Given the description of an element on the screen output the (x, y) to click on. 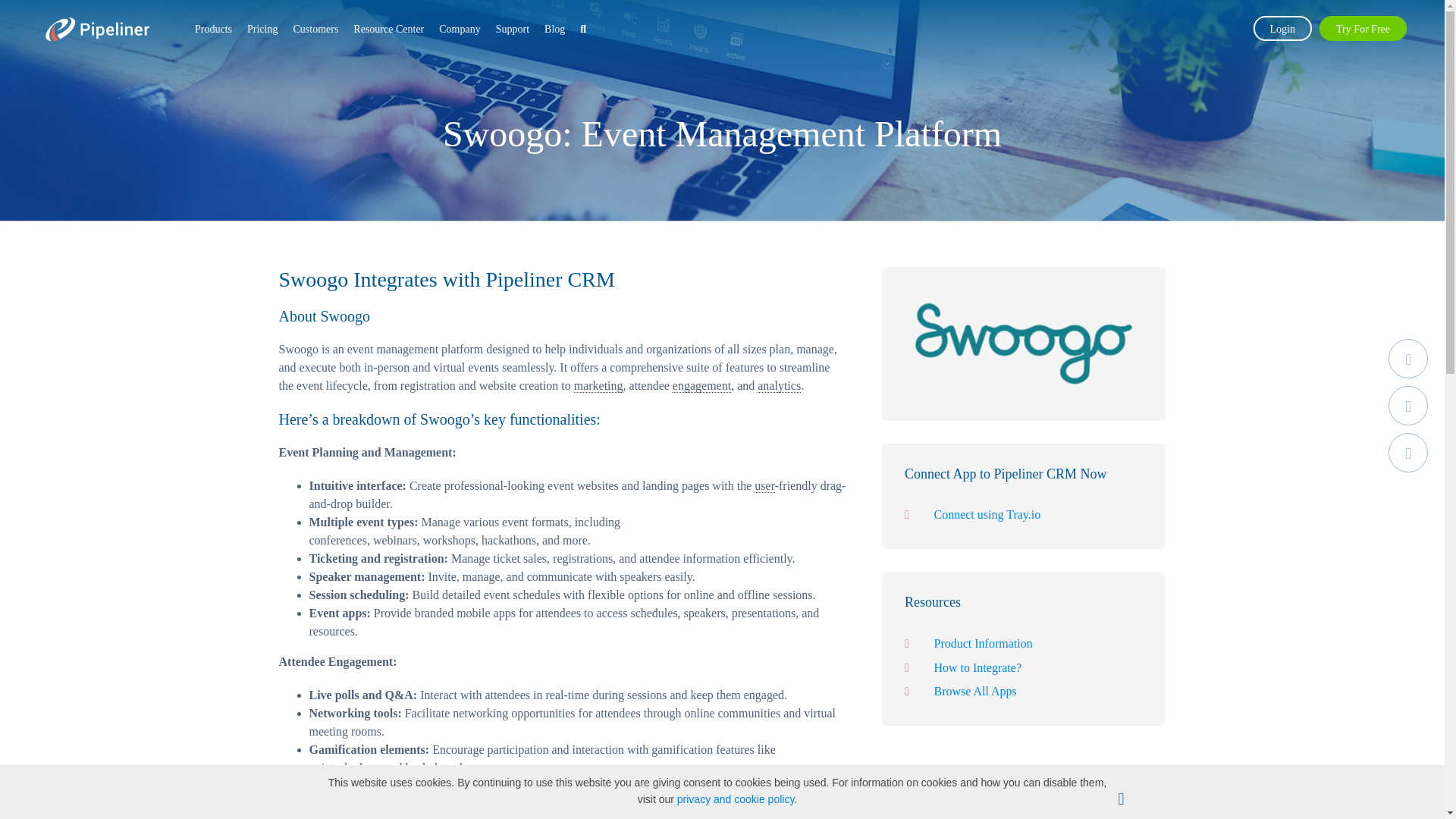
Support (512, 28)
Company (459, 28)
Login (1281, 27)
Customers (314, 28)
swoogo (1023, 343)
Products (213, 28)
Try For Free (1362, 27)
Blog (554, 28)
Pricing (262, 28)
Resource Center (388, 28)
